Given the description of an element on the screen output the (x, y) to click on. 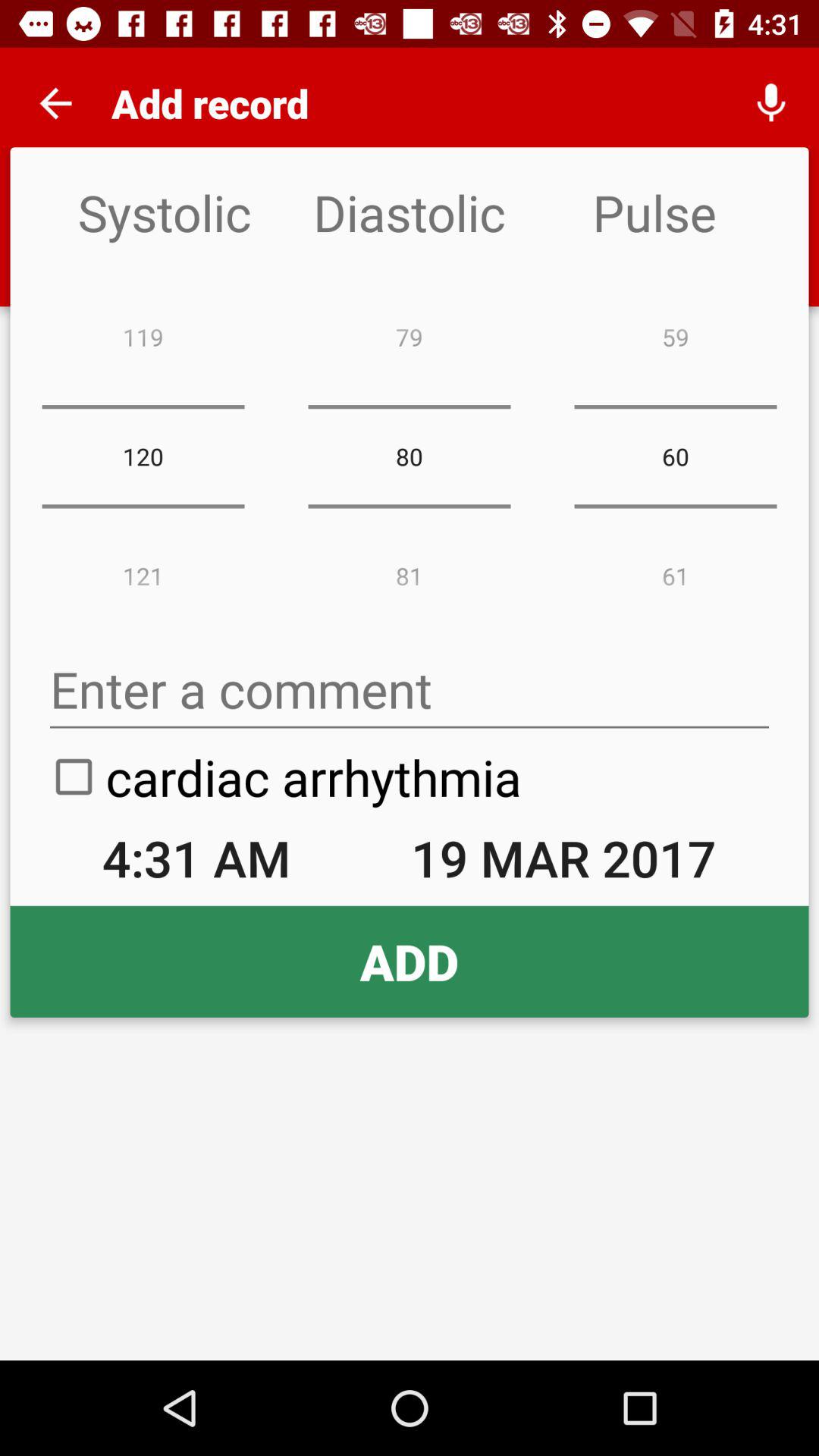
toggle enter a comment option (409, 689)
